Given the description of an element on the screen output the (x, y) to click on. 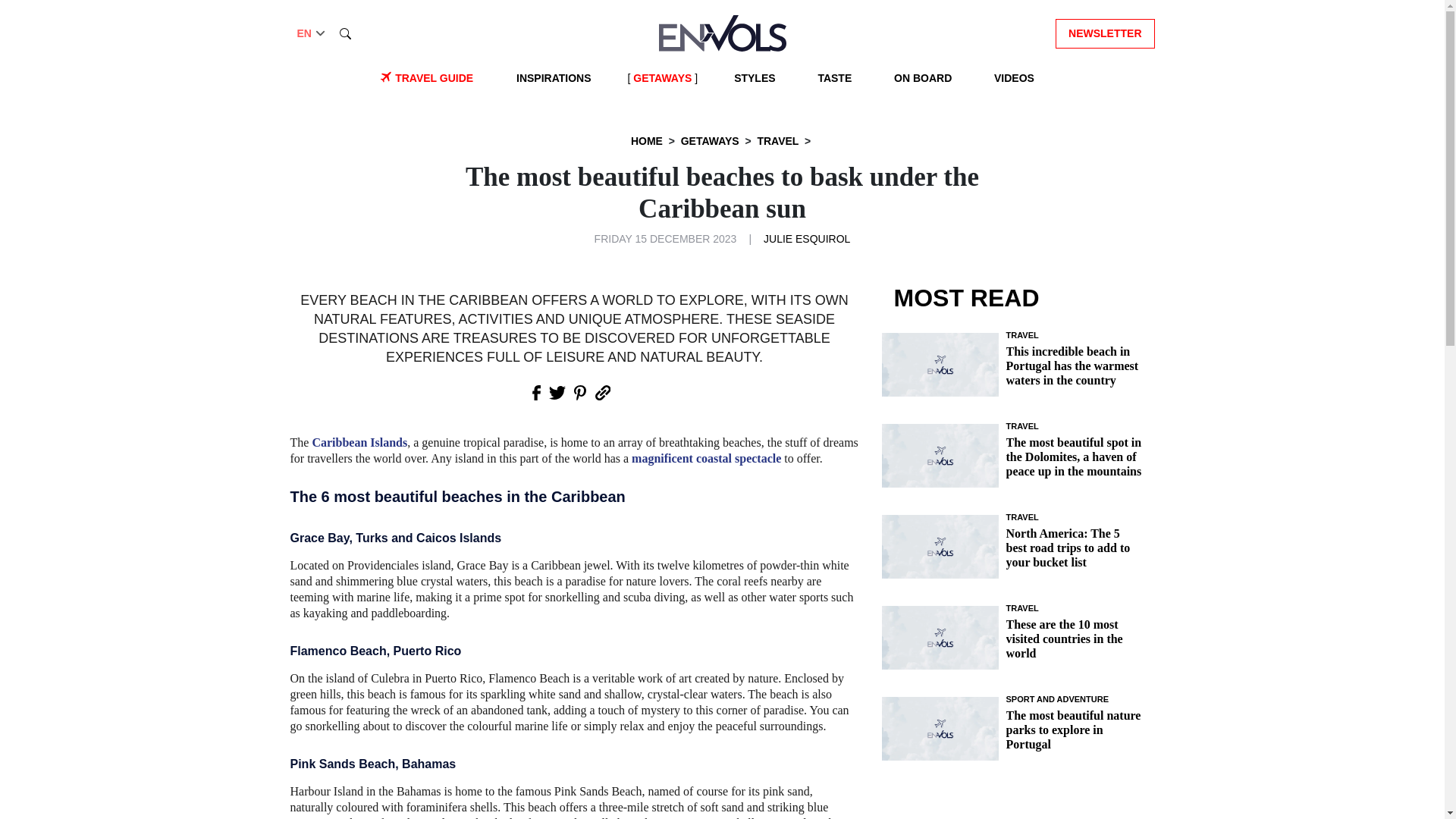
NEWSLETTER (1104, 32)
STYLES (754, 78)
TASTE (833, 78)
VIDEOS (1014, 78)
TRAVEL GUIDE (433, 78)
ON BOARD (923, 78)
INSPIRATIONS (553, 78)
EN (311, 33)
GETAWAYS (662, 78)
